Given the description of an element on the screen output the (x, y) to click on. 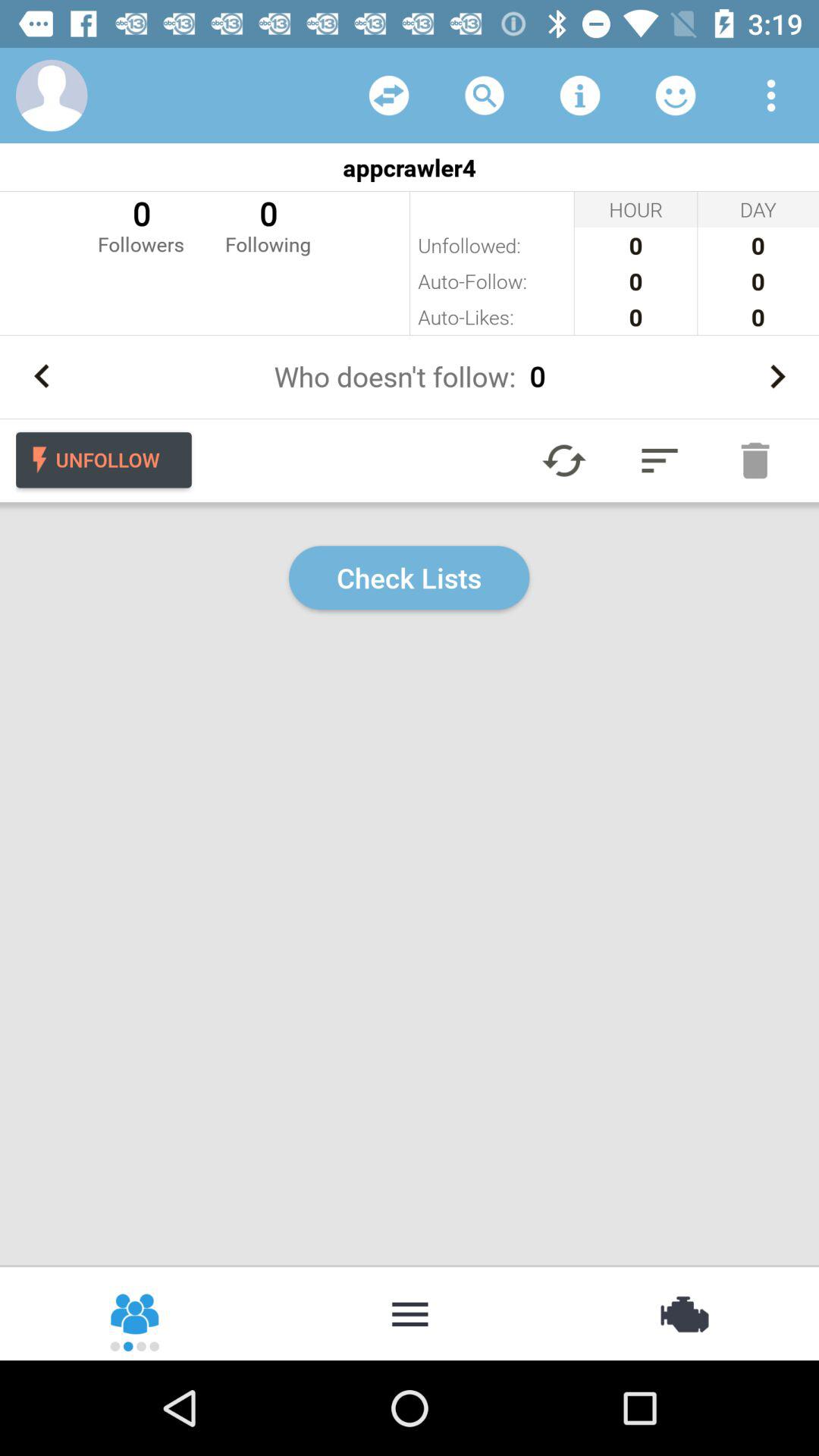
select icon next to unfollow icon (563, 460)
